Given the description of an element on the screen output the (x, y) to click on. 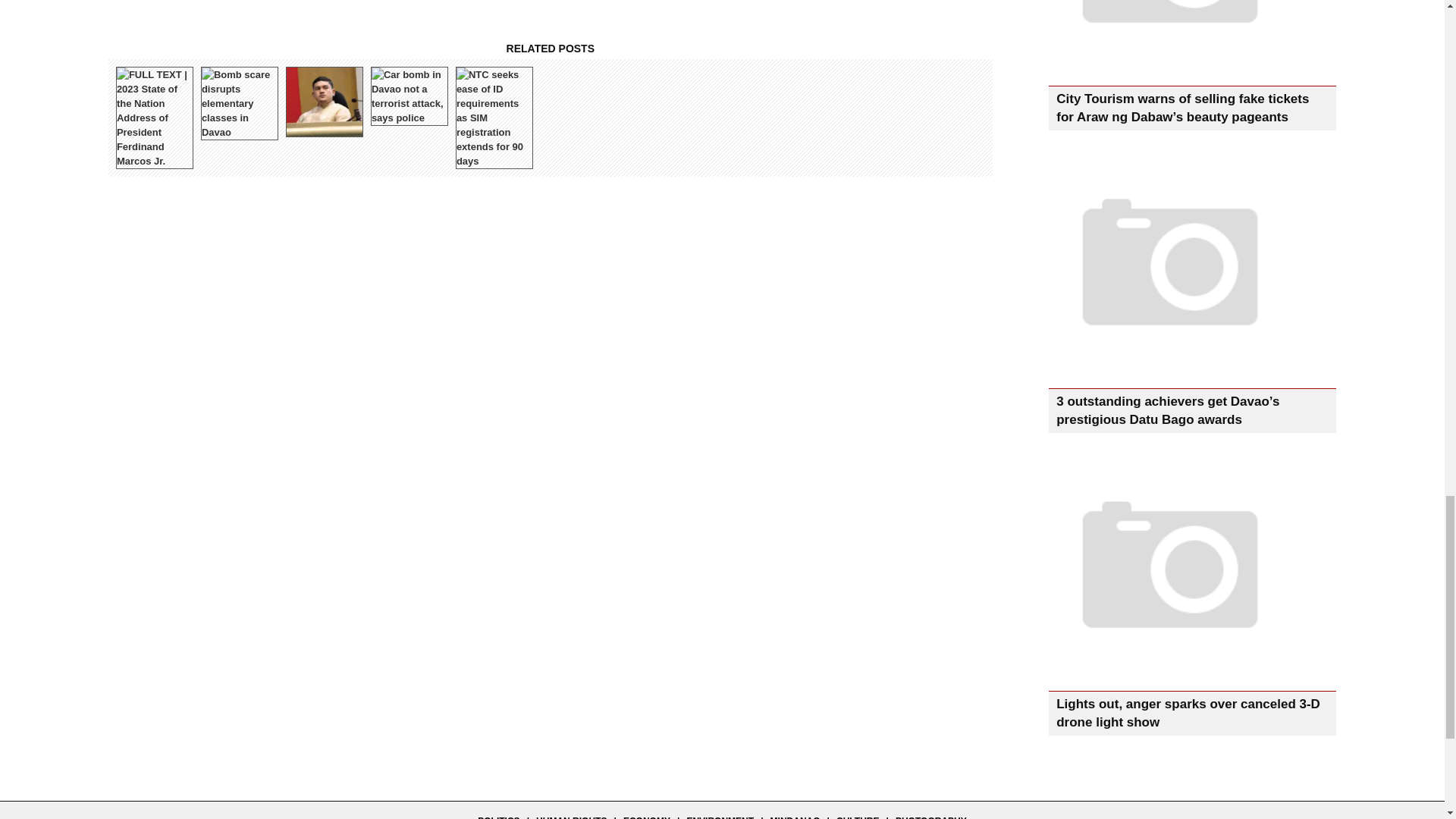
Car bomb in Davao not a terrorist attack, says police (408, 96)
Bomb scare disrupts elementary classes in Davao (238, 103)
